Given the description of an element on the screen output the (x, y) to click on. 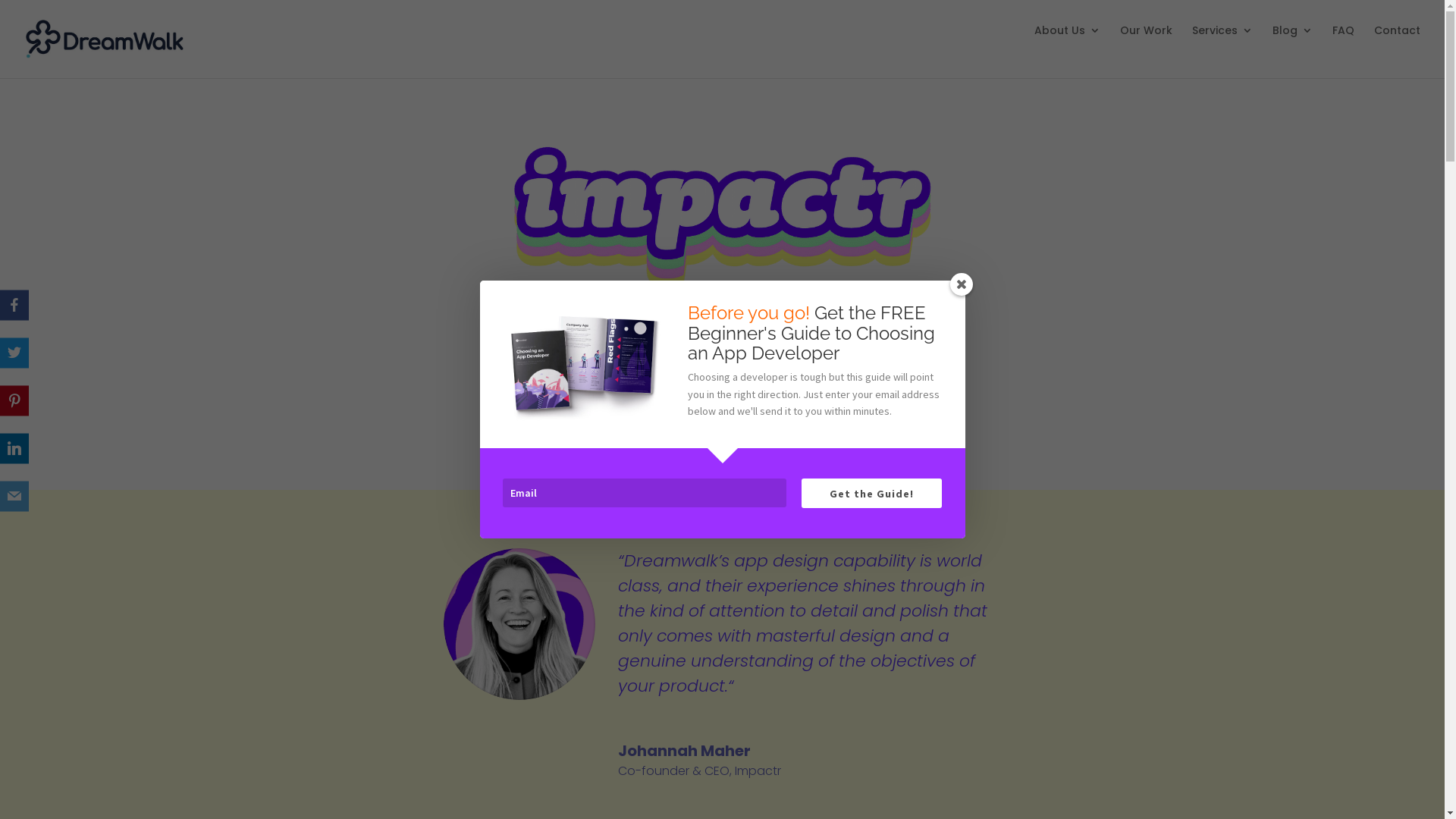
Services Element type: text (1222, 42)
Our Work Element type: text (1146, 42)
Blog Element type: text (1292, 42)
FAQ Element type: text (1343, 42)
Impactr Element type: text (757, 770)
About Us Element type: text (1067, 42)
Get the Guide! Element type: text (871, 493)
Contact Element type: text (1397, 42)
Impact app logo Element type: hover (722, 212)
